Given the description of an element on the screen output the (x, y) to click on. 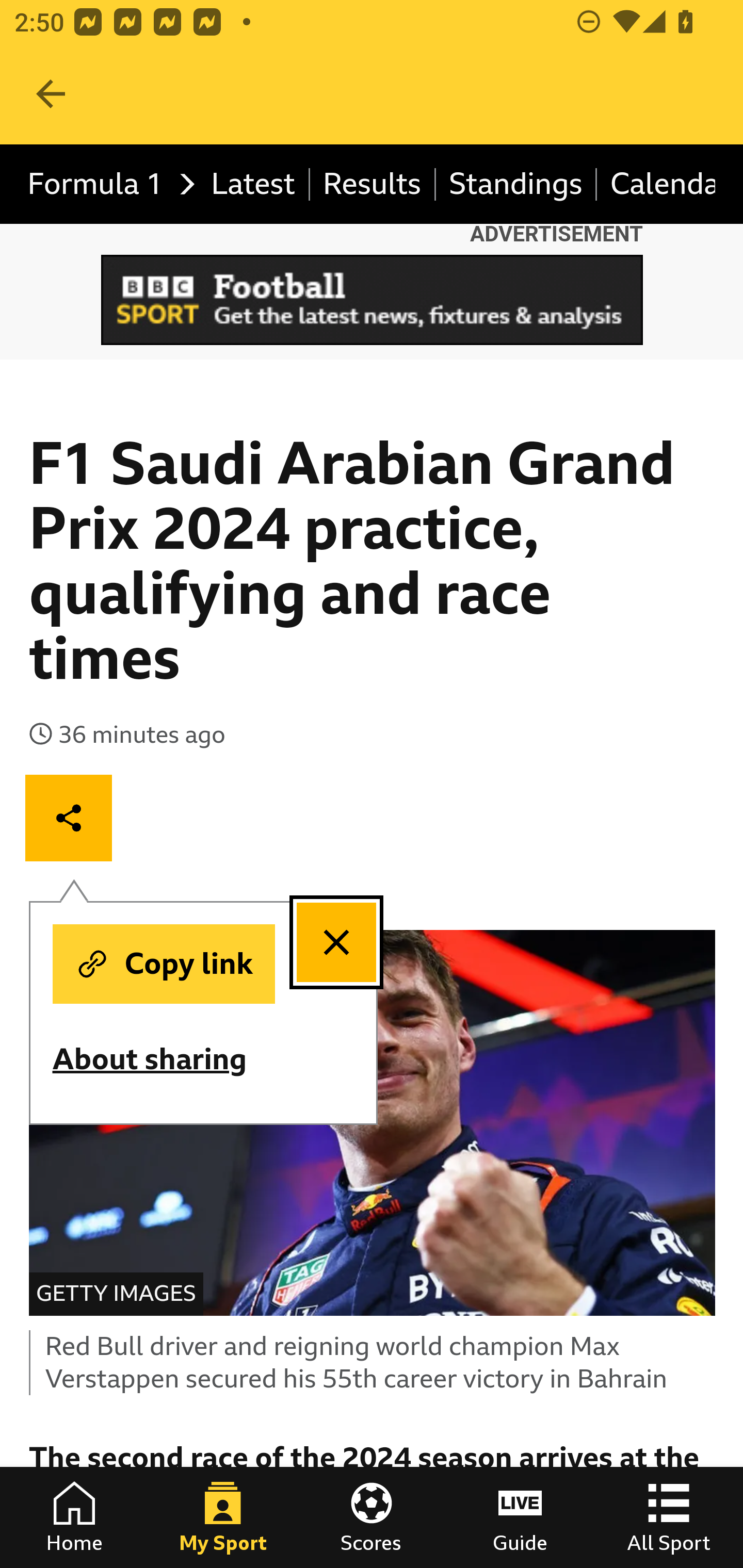
Navigate up (50, 93)
Formula 1 (106, 184)
Latest (253, 184)
Results (372, 184)
Standings (515, 184)
Calendar (655, 184)
Share (68, 817)
close panel (336, 943)
Copy link (163, 964)
About sharing (163, 1058)
Home (74, 1517)
Scores (371, 1517)
Guide (519, 1517)
All Sport (668, 1517)
